Given the description of an element on the screen output the (x, y) to click on. 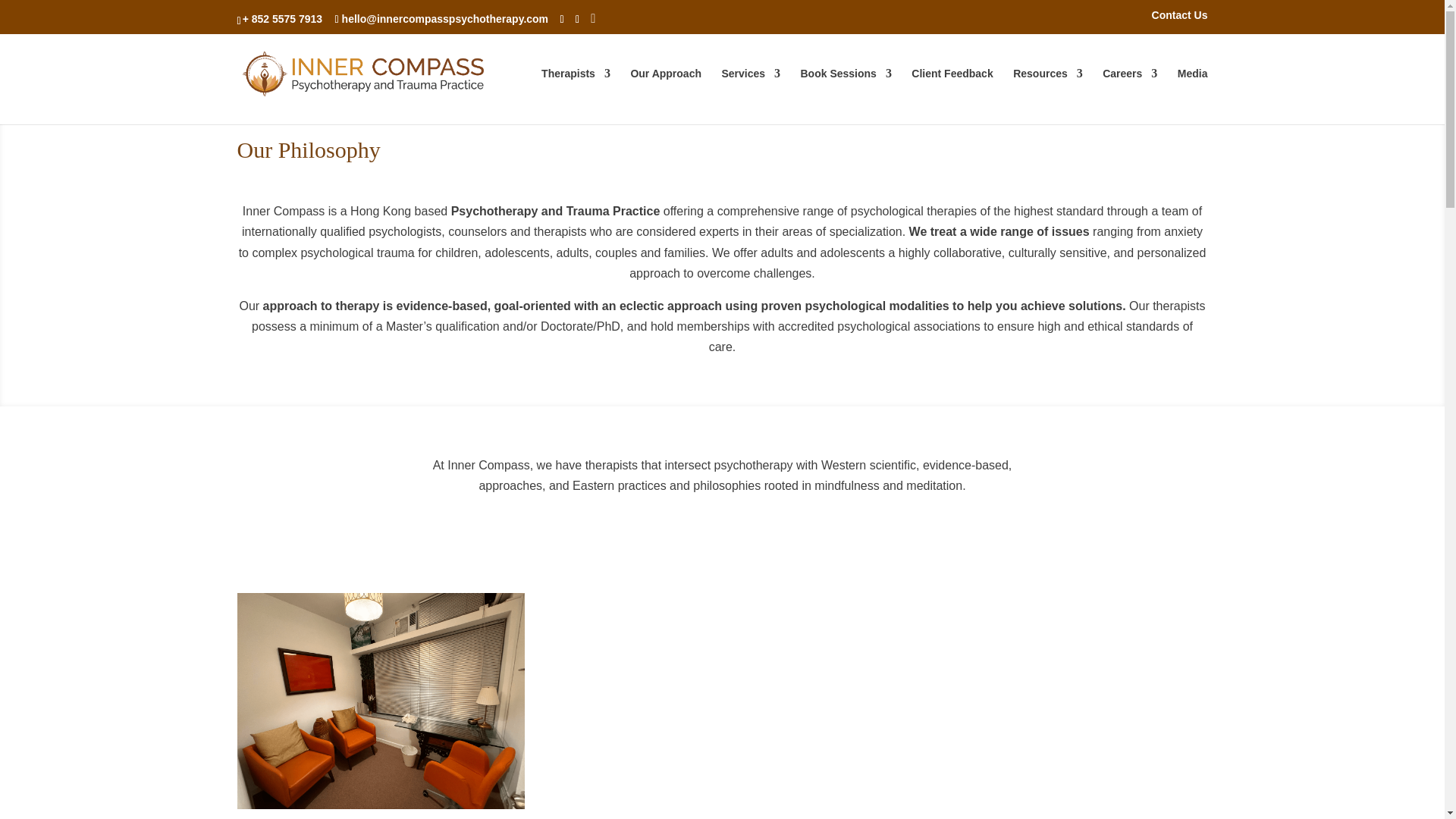
Our Approach (665, 95)
Client Feedback (951, 95)
Services (750, 95)
Resources (1048, 95)
Book Sessions (845, 95)
Approach to Therapy - Inner Compass (379, 700)
Careers (1129, 95)
Contact Us (1179, 18)
Therapists (575, 95)
